Given the description of an element on the screen output the (x, y) to click on. 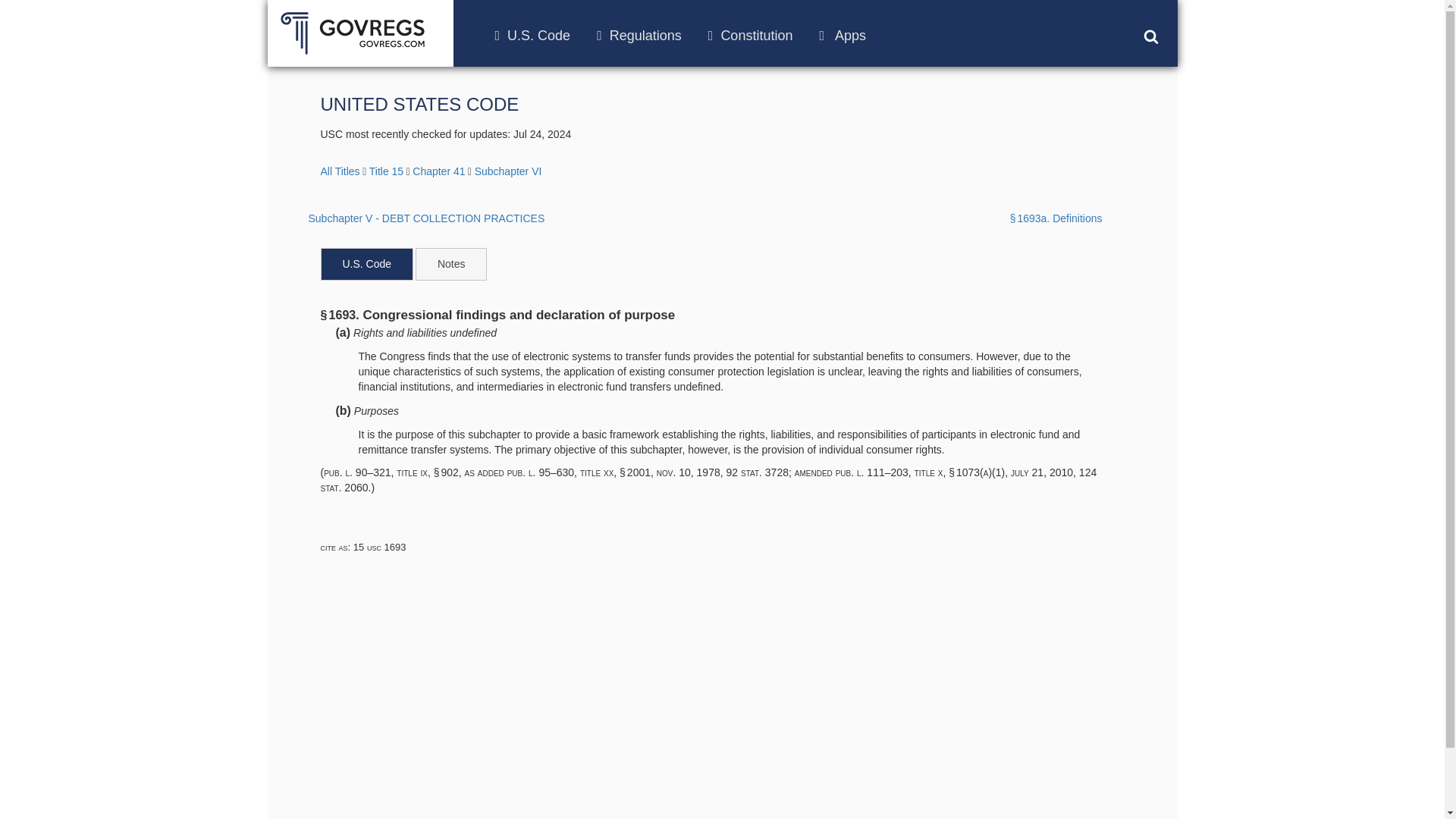
U.S. Code (367, 264)
Chapter 41 (438, 171)
Subchapter V - DEBT COLLECTION PRACTICES (425, 218)
Subchapter VI (507, 171)
Subchapter V - DEBT COLLECTION PRACTICES (425, 218)
Title 15 (386, 171)
Constitution (750, 35)
Apps (842, 35)
Notes (451, 264)
All Titles (339, 171)
Regulations (638, 35)
U.S. Code (532, 35)
